Given the description of an element on the screen output the (x, y) to click on. 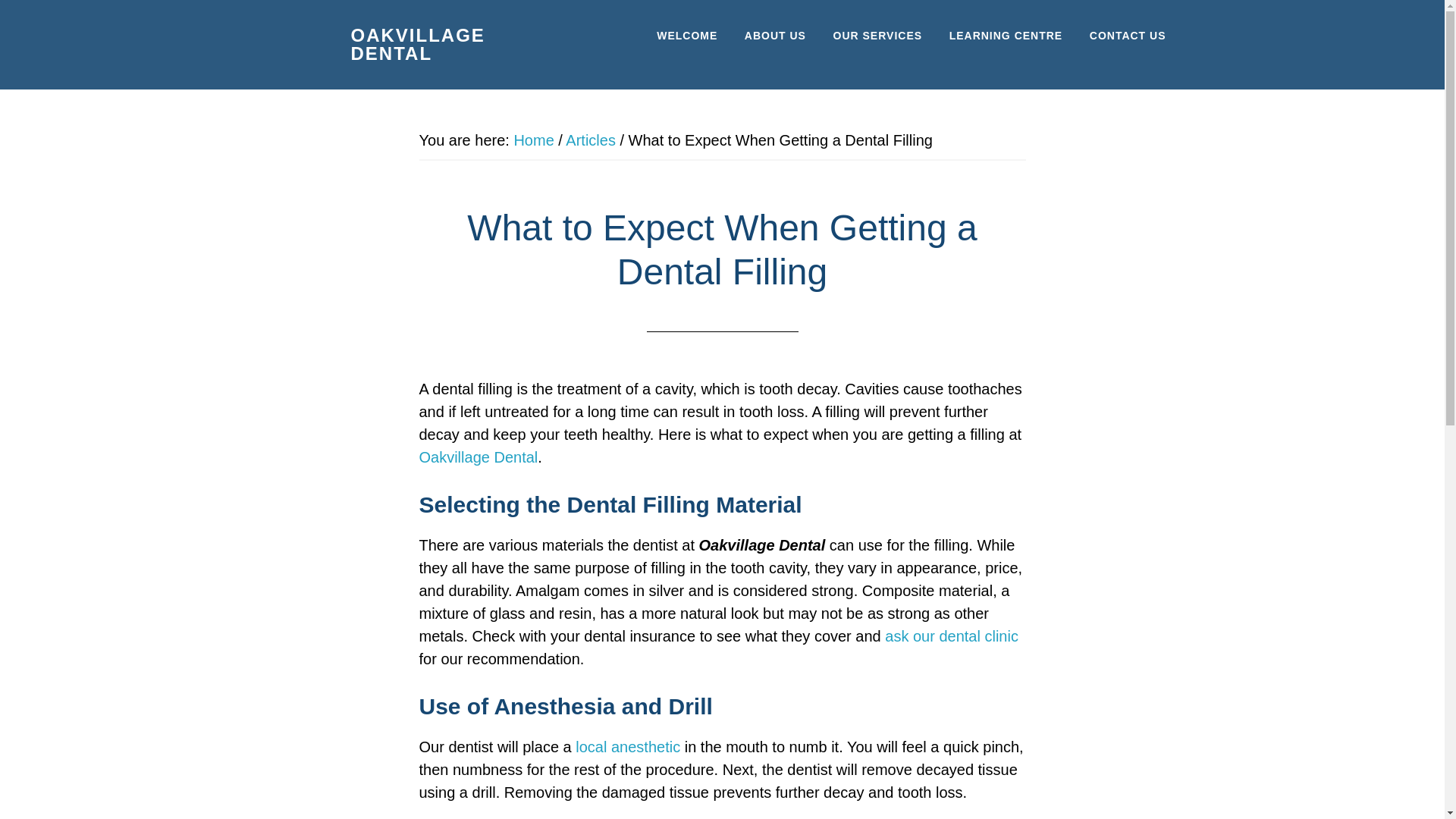
CONTACT US (1127, 36)
OAKVILLAGE DENTAL (417, 44)
WELCOME (687, 36)
Oakvillage Dental (478, 457)
OUR SERVICES (878, 36)
local anesthetic (627, 746)
ask our dental clinic (951, 636)
LEARNING CENTRE (1005, 36)
Articles (590, 139)
ABOUT US (774, 36)
